Given the description of an element on the screen output the (x, y) to click on. 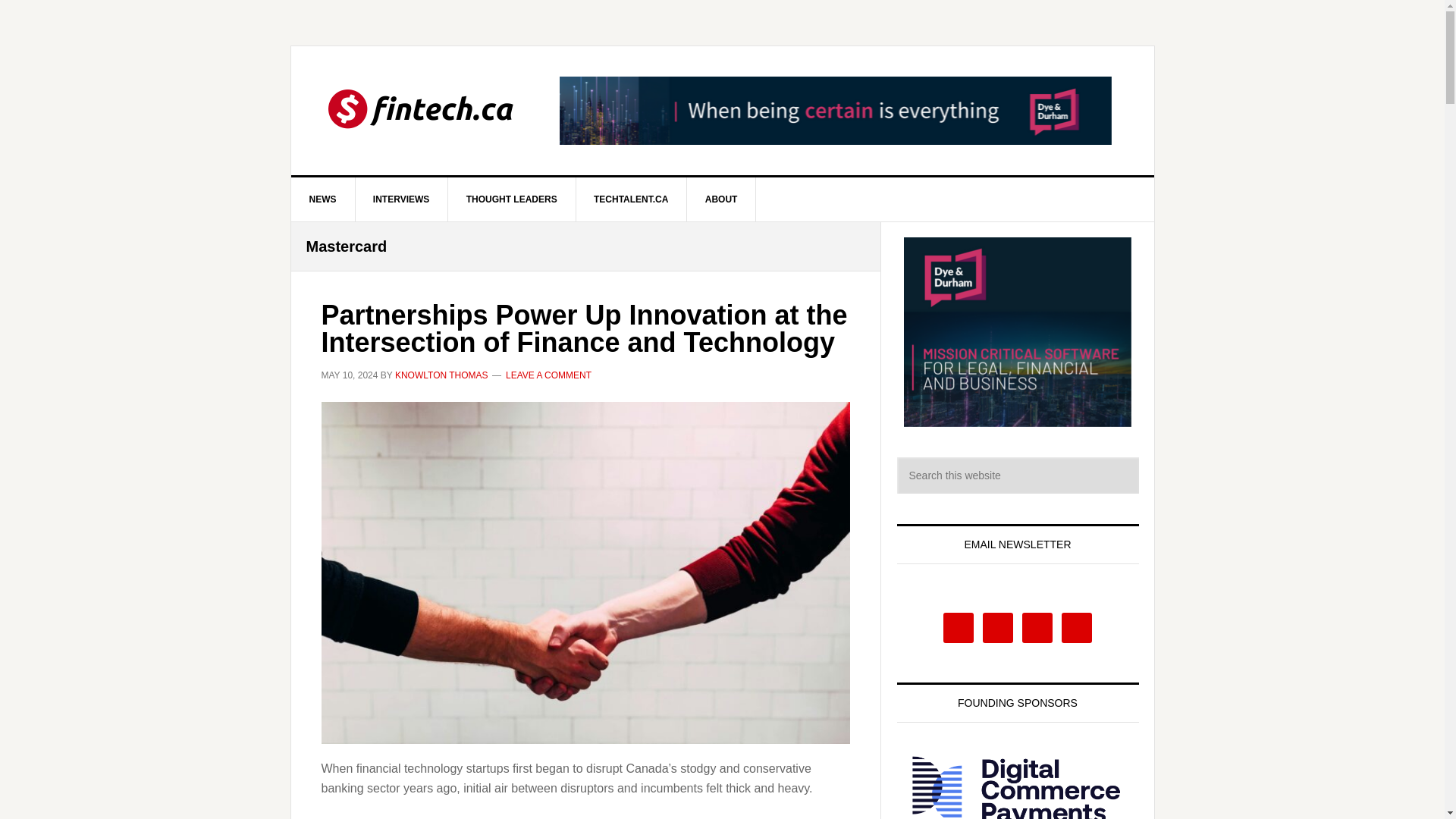
ABOUT (722, 199)
KNOWLTON THOMAS (440, 375)
LEAVE A COMMENT (548, 375)
INTERVIEWS (401, 199)
TECHTALENT.CA (631, 199)
NEWS (323, 199)
FINTECH.CA (419, 110)
